Given the description of an element on the screen output the (x, y) to click on. 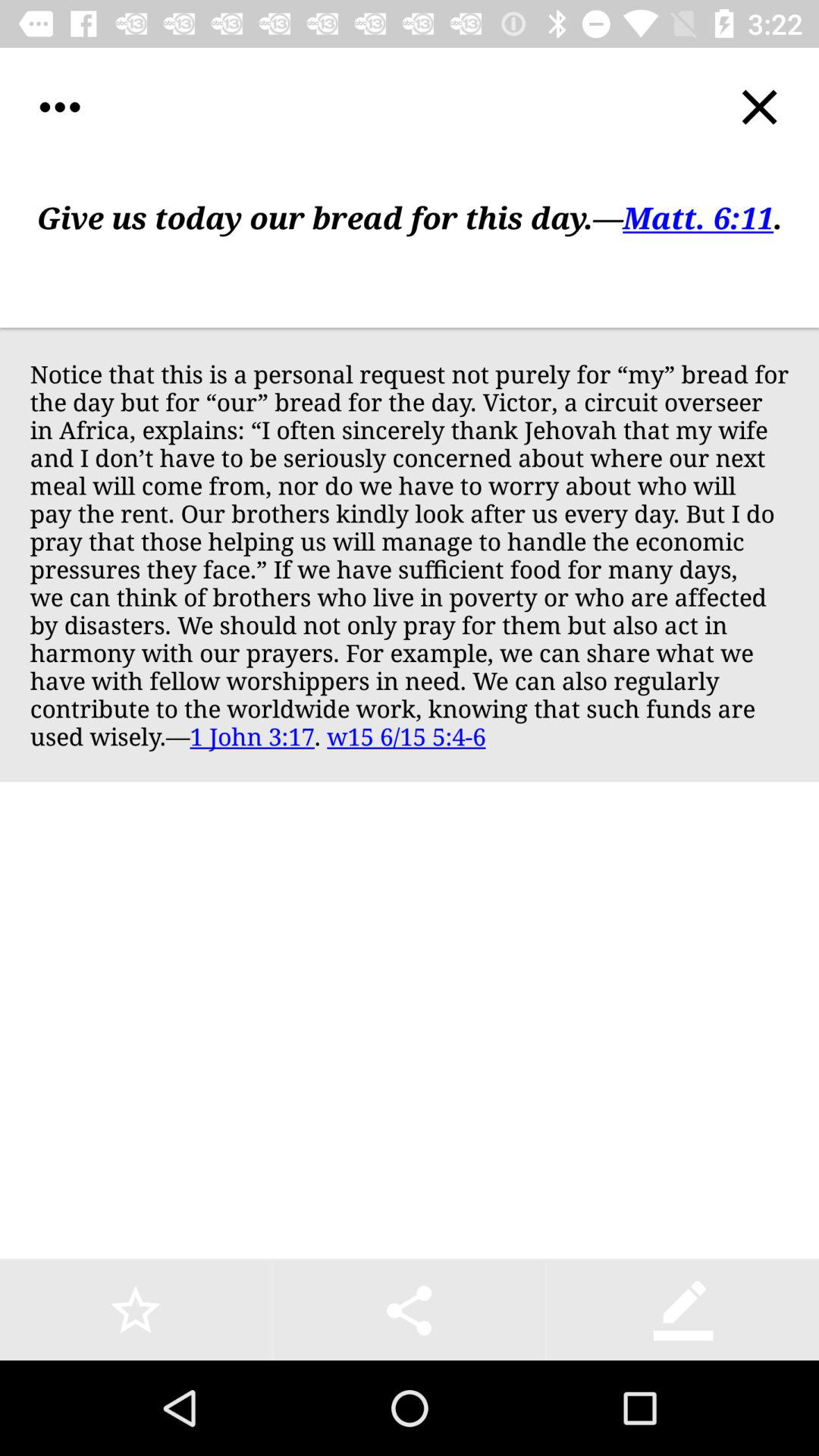
click the give us today (409, 247)
